Given the description of an element on the screen output the (x, y) to click on. 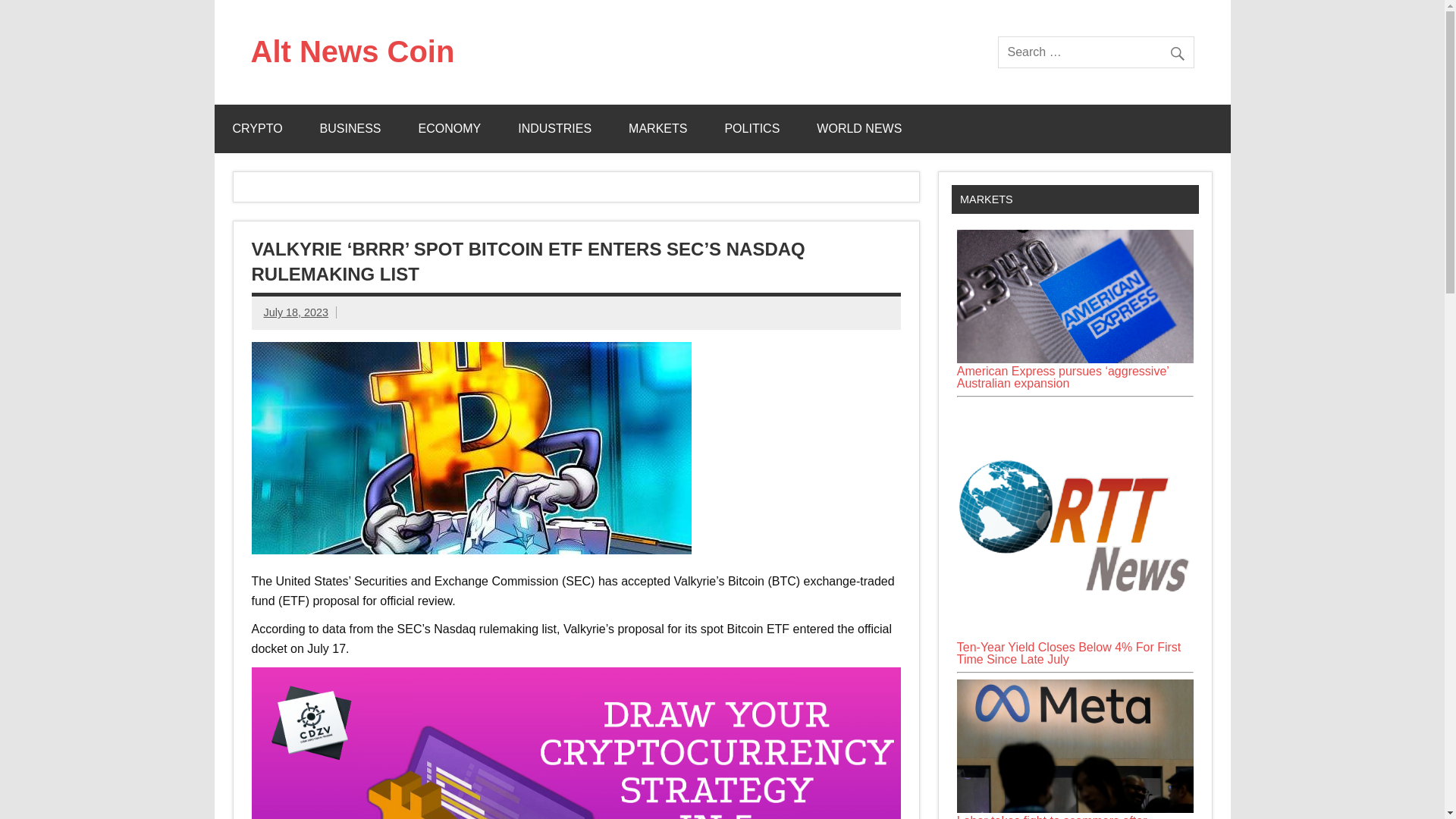
1:40 pm (296, 312)
POLITICS (751, 128)
INDUSTRIES (554, 128)
July 18, 2023 (296, 312)
WORLD NEWS (858, 128)
CRYPTO (256, 128)
Alt News Coin (352, 51)
MARKETS (657, 128)
ECONOMY (449, 128)
BUSINESS (349, 128)
